Given the description of an element on the screen output the (x, y) to click on. 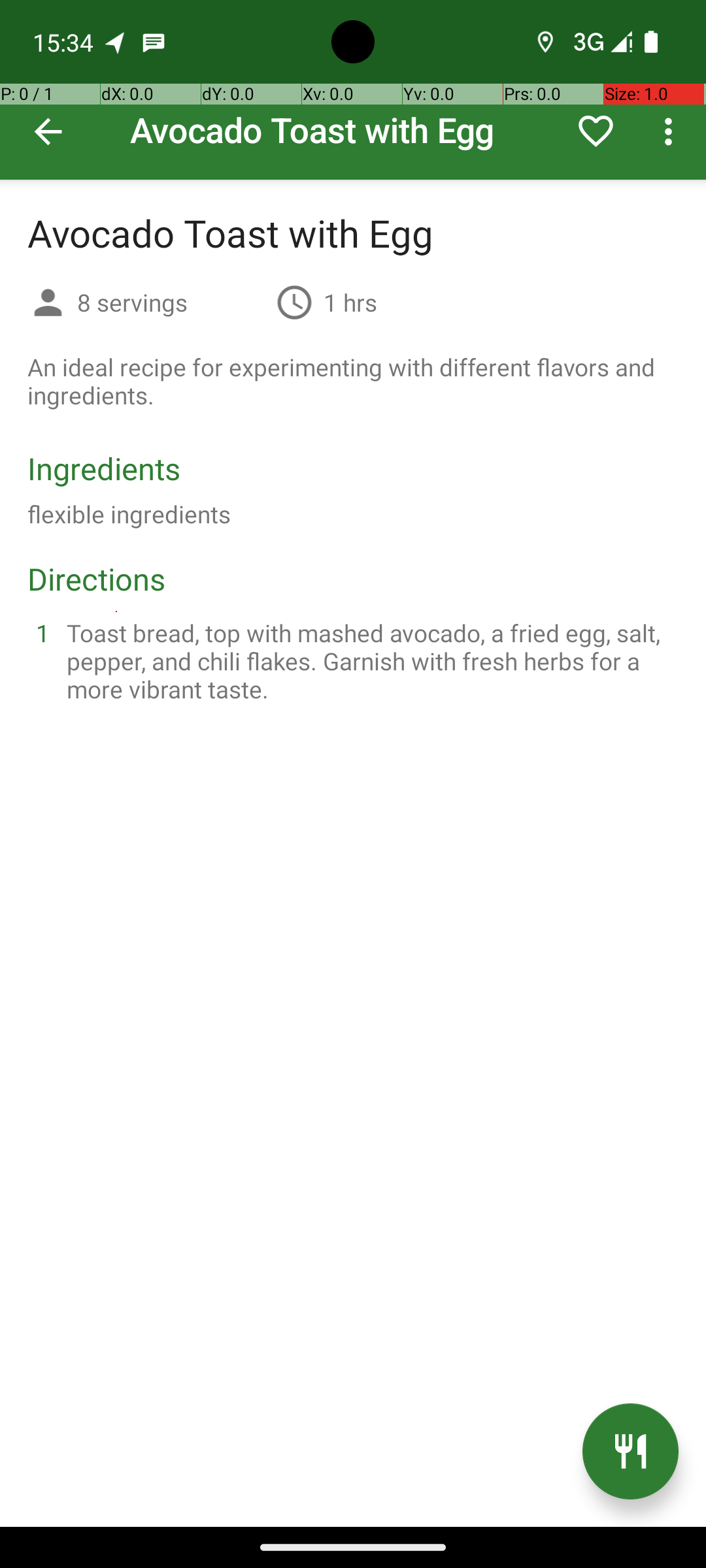
Avocado Toast with Egg Element type: android.widget.FrameLayout (353, 89)
8 servings Element type: android.widget.TextView (170, 301)
1 hrs Element type: android.widget.TextView (350, 301)
flexible ingredients Element type: android.widget.TextView (128, 513)
Toast bread, top with mashed avocado, a fried egg, salt, pepper, and chili flakes. Garnish with fresh herbs for a more vibrant taste. Element type: android.widget.TextView (368, 660)
